Given the description of an element on the screen output the (x, y) to click on. 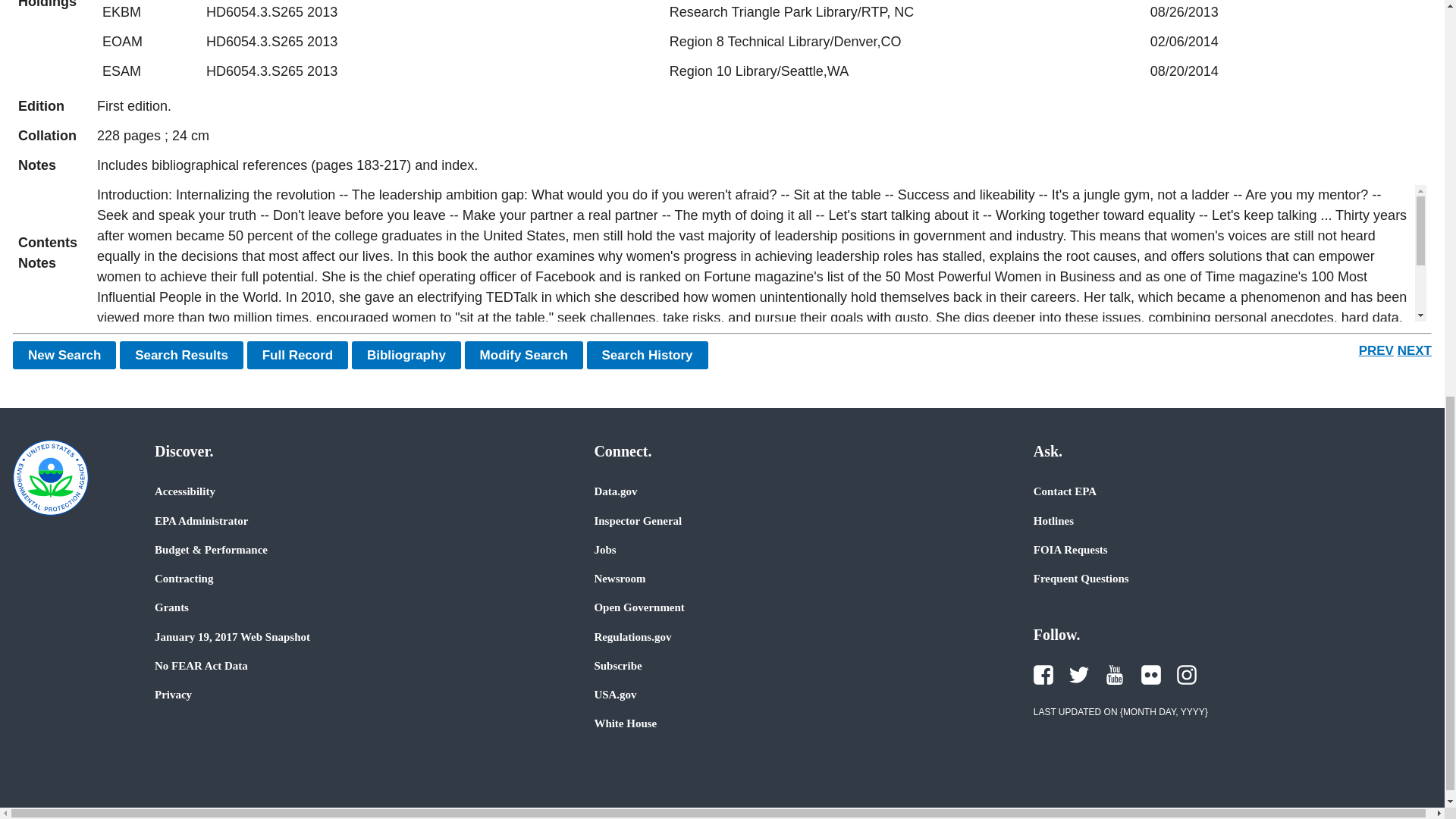
Full Record (298, 355)
Show results in standard format (181, 355)
Search Results (181, 355)
January 19, 2017 Web Snapshot (232, 636)
full length text available by clicking full record (761, 165)
Grants (171, 607)
No FEAR Act Data (200, 665)
Search History (646, 355)
Privacy (173, 694)
Create a New Search (64, 355)
PREV (1375, 350)
NEXT (1414, 350)
Modify Search (523, 355)
Bibliography (406, 355)
